Given the description of an element on the screen output the (x, y) to click on. 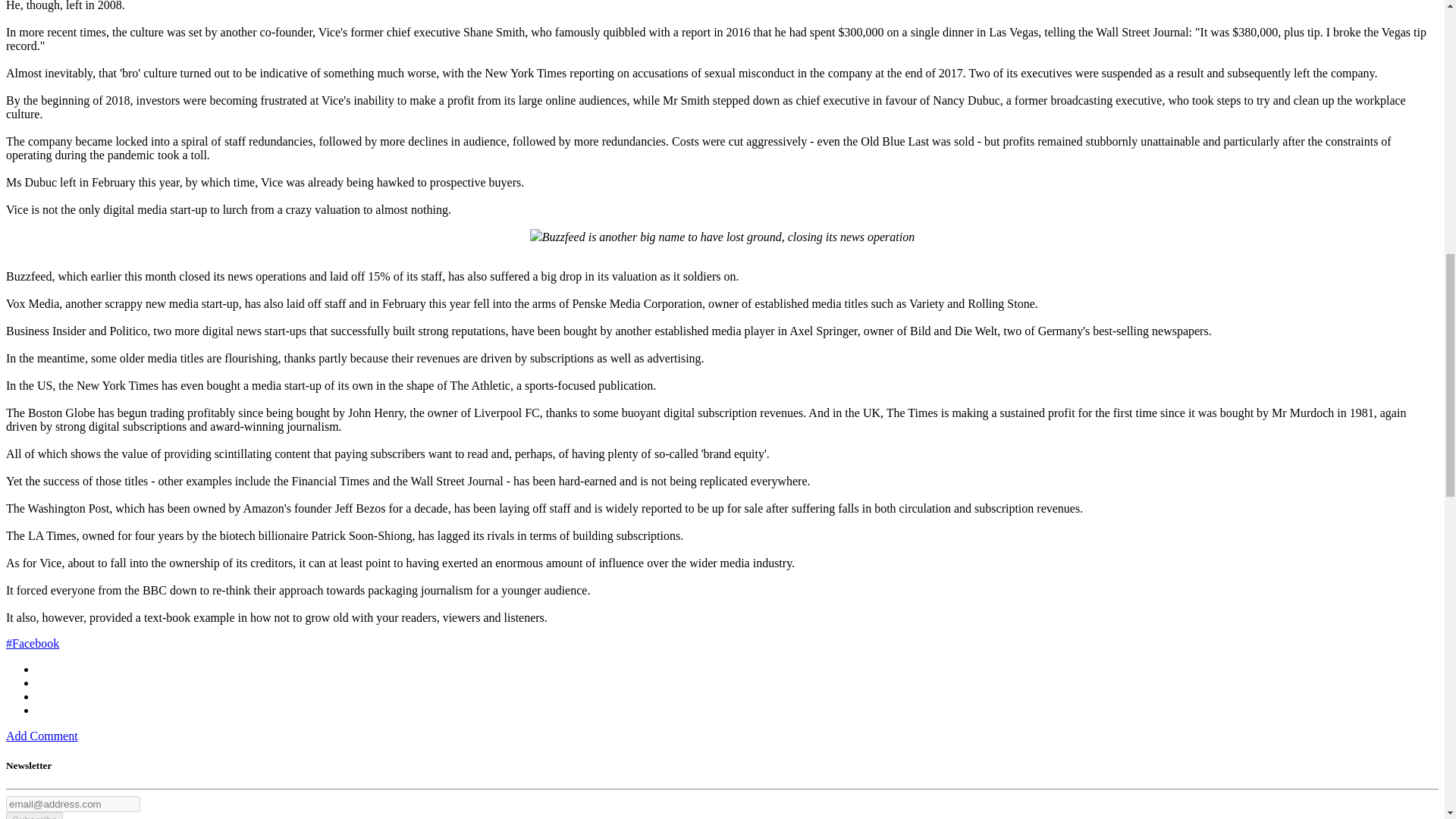
Subscribe (33, 815)
Add Comment (41, 735)
